Given the description of an element on the screen output the (x, y) to click on. 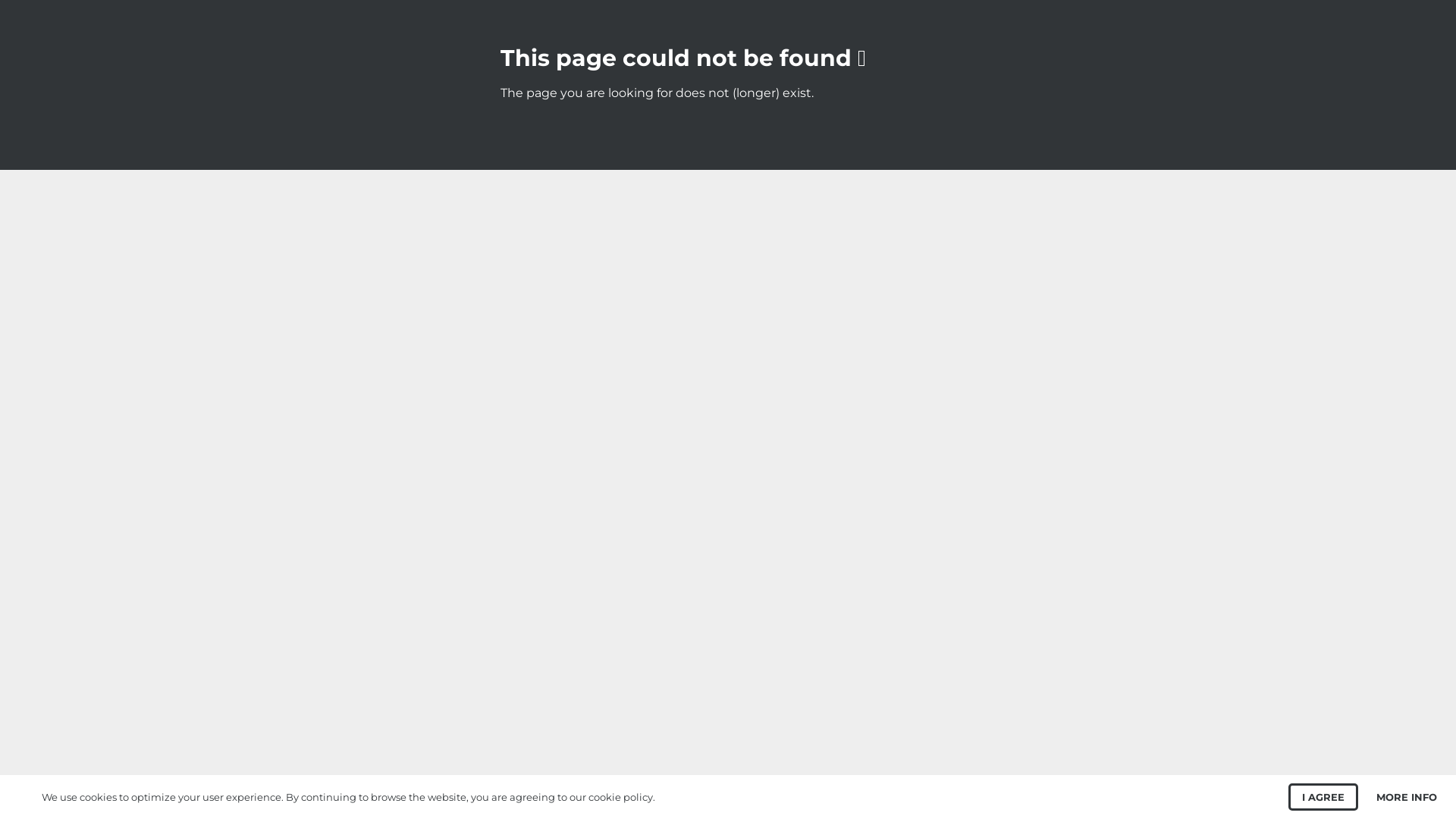
I AGREE Element type: text (1323, 796)
MORE INFO Element type: text (1406, 796)
